Given the description of an element on the screen output the (x, y) to click on. 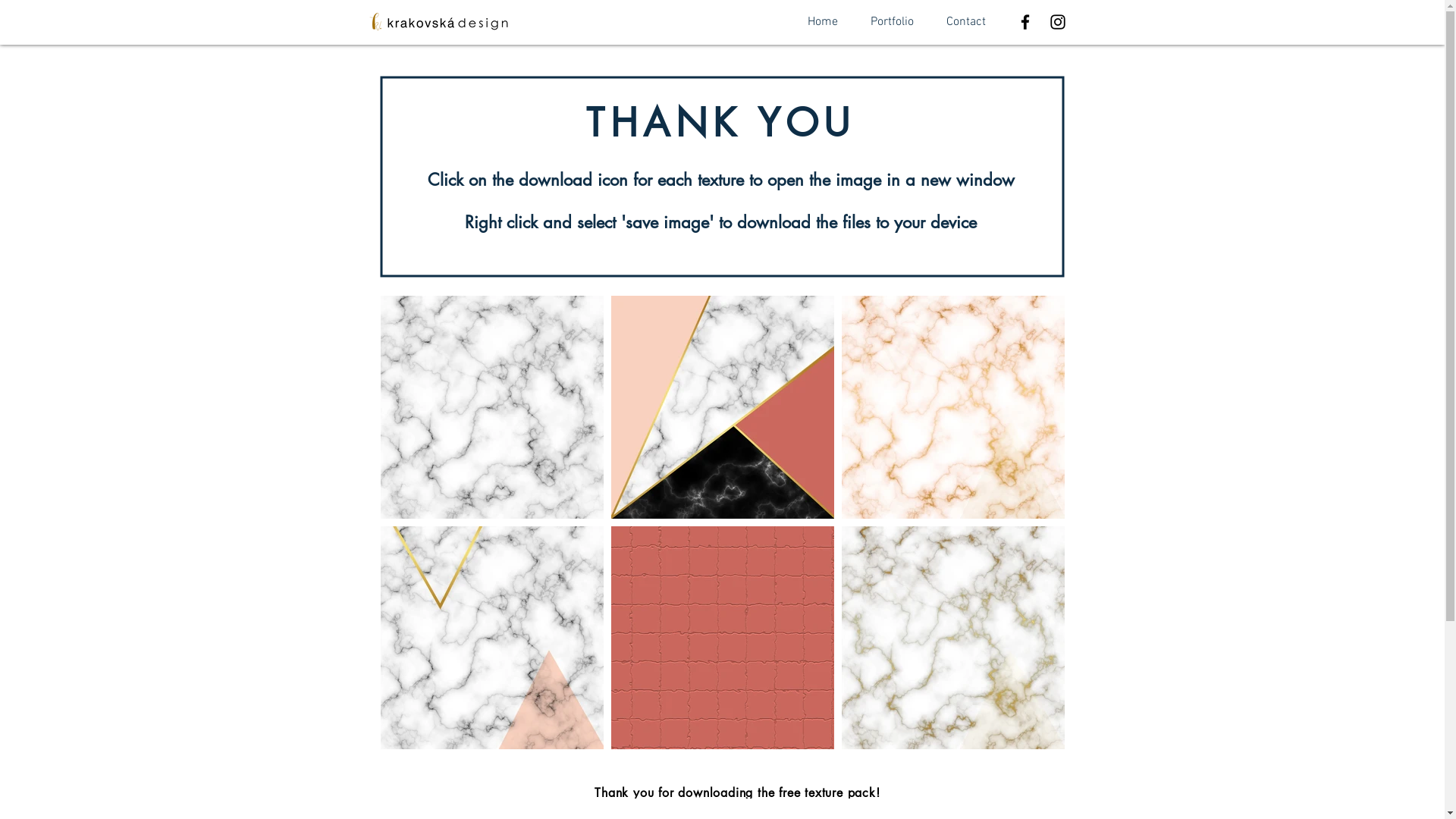
Contact Element type: text (965, 21)
If you enjoy using the textures please leave us a review! Element type: text (737, 808)
Home Element type: text (821, 21)
Thank you for downloading the free texture pack! Element type: text (736, 792)
Portfolio Element type: text (891, 21)
